Given the description of an element on the screen output the (x, y) to click on. 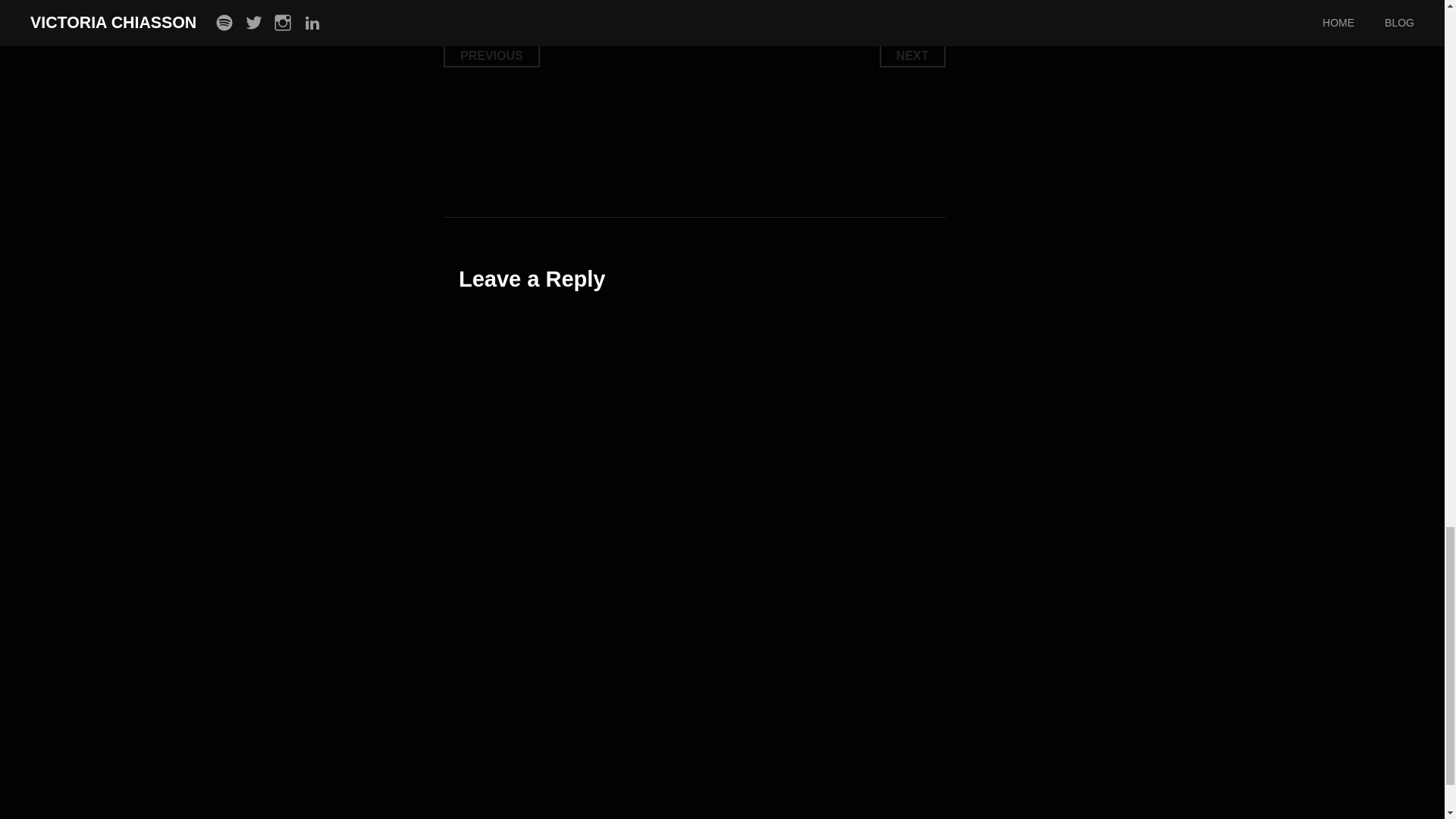
PREVIOUS (492, 55)
NEXT (911, 55)
